Given the description of an element on the screen output the (x, y) to click on. 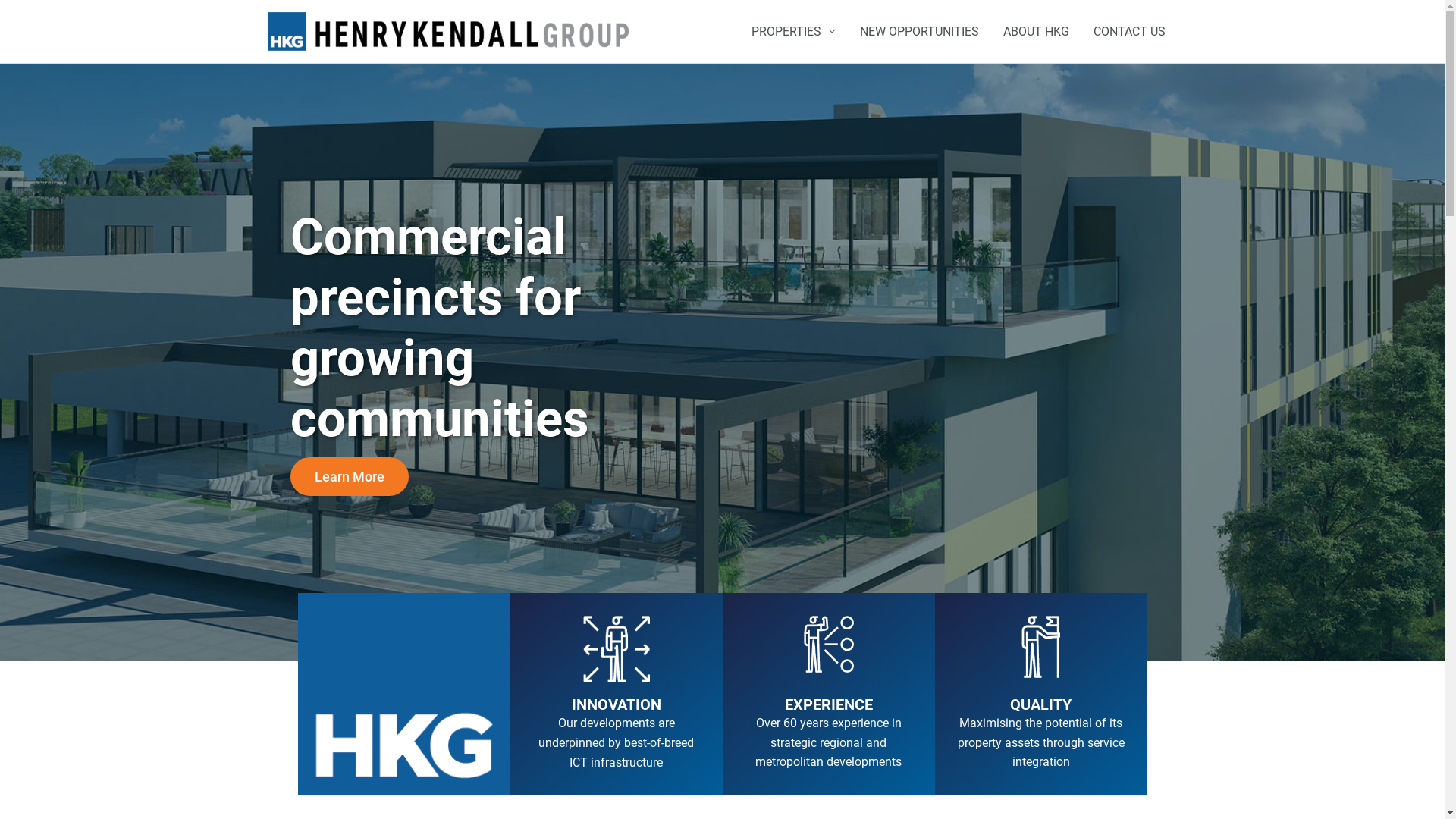
ABOUT HKG Element type: text (1035, 31)
CONTACT US Element type: text (1129, 31)
NEW OPPORTUNITIES Element type: text (919, 31)
Learn More Element type: text (348, 476)
PROPERTIES Element type: text (792, 31)
